Given the description of an element on the screen output the (x, y) to click on. 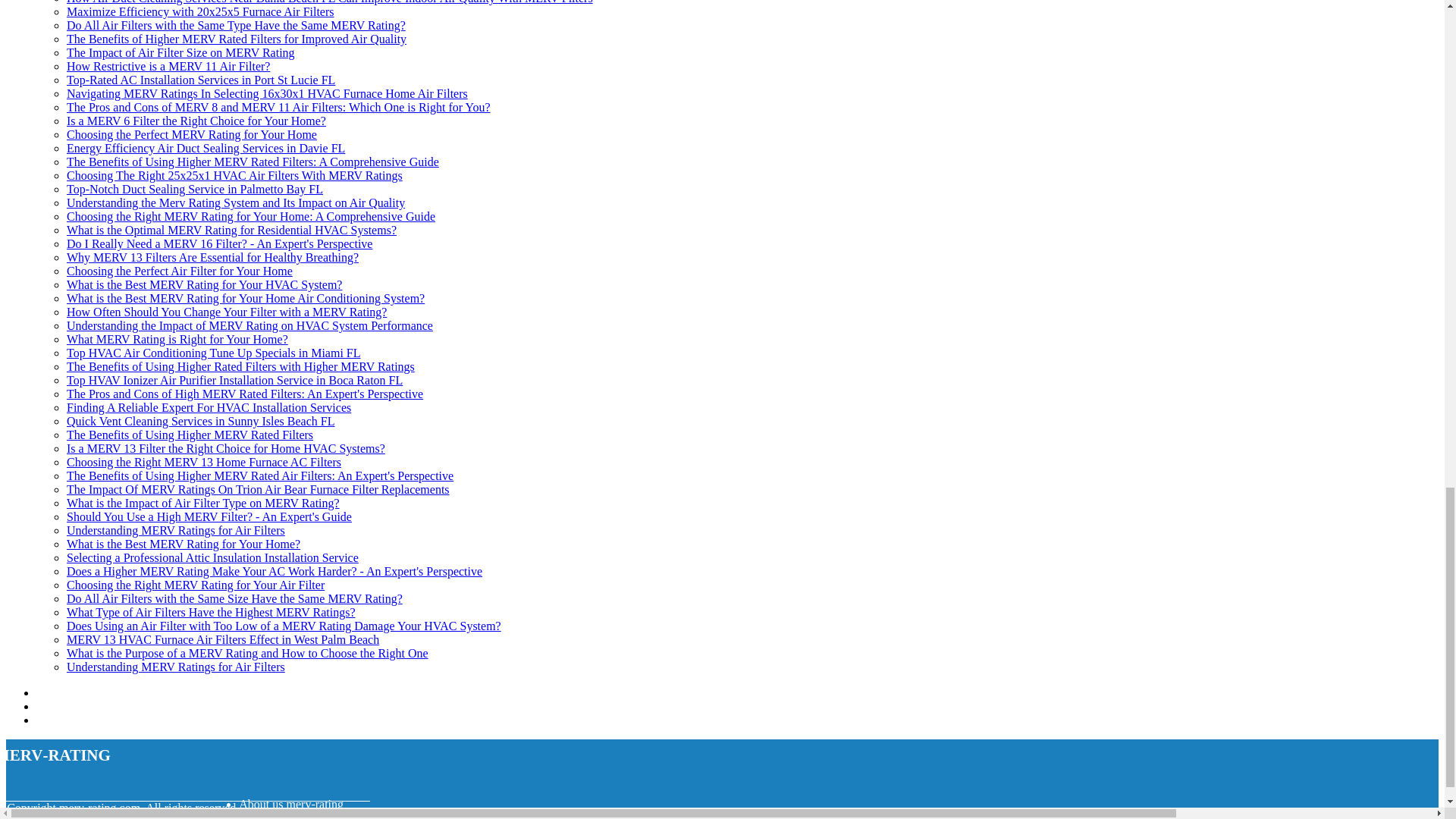
How Restrictive is a MERV 11 Air Filter? (167, 65)
The Impact of Air Filter Size on MERV Rating (180, 51)
Maximize Efficiency with 20x25x5 Furnace Air Filters (200, 11)
